Given the description of an element on the screen output the (x, y) to click on. 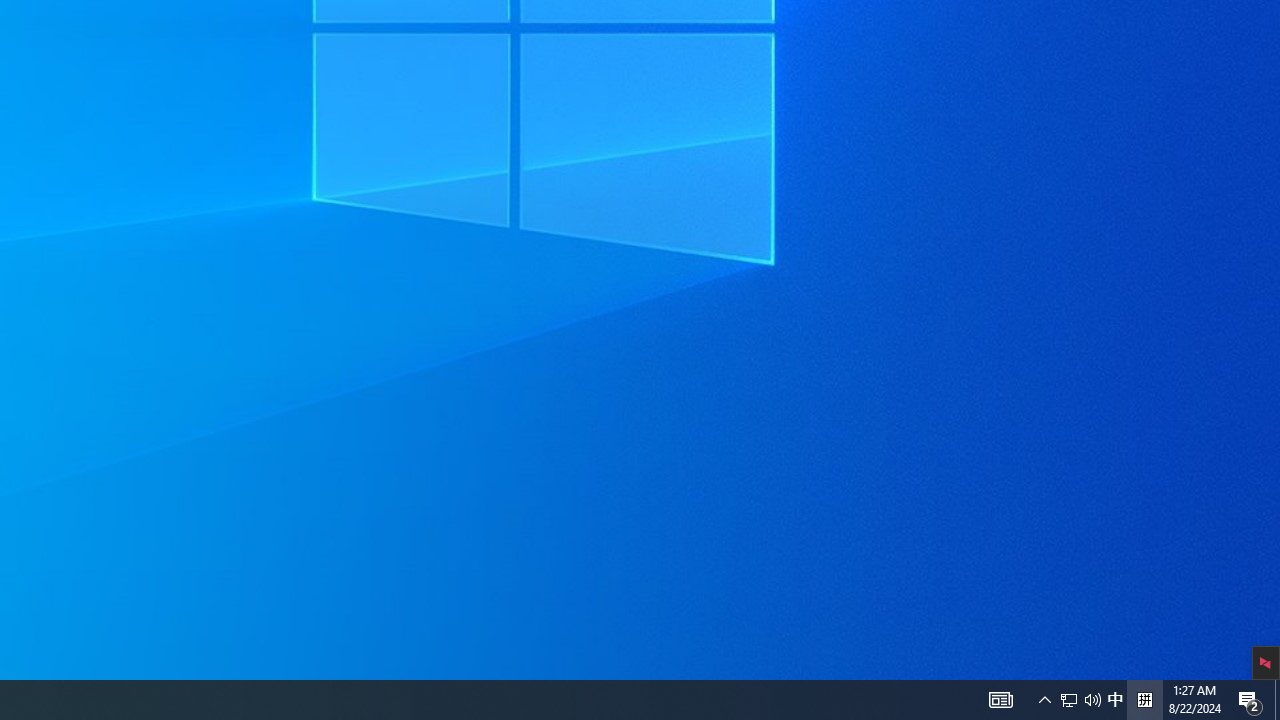
User Promoted Notification Area (1080, 699)
Show desktop (1277, 699)
AutomationID: 4105 (1069, 699)
Notification Chevron (1000, 699)
Tray Input Indicator - Chinese (Simplified, China) (1044, 699)
Action Center, 2 new notifications (1144, 699)
Q2790: 100% (1250, 699)
